Given the description of an element on the screen output the (x, y) to click on. 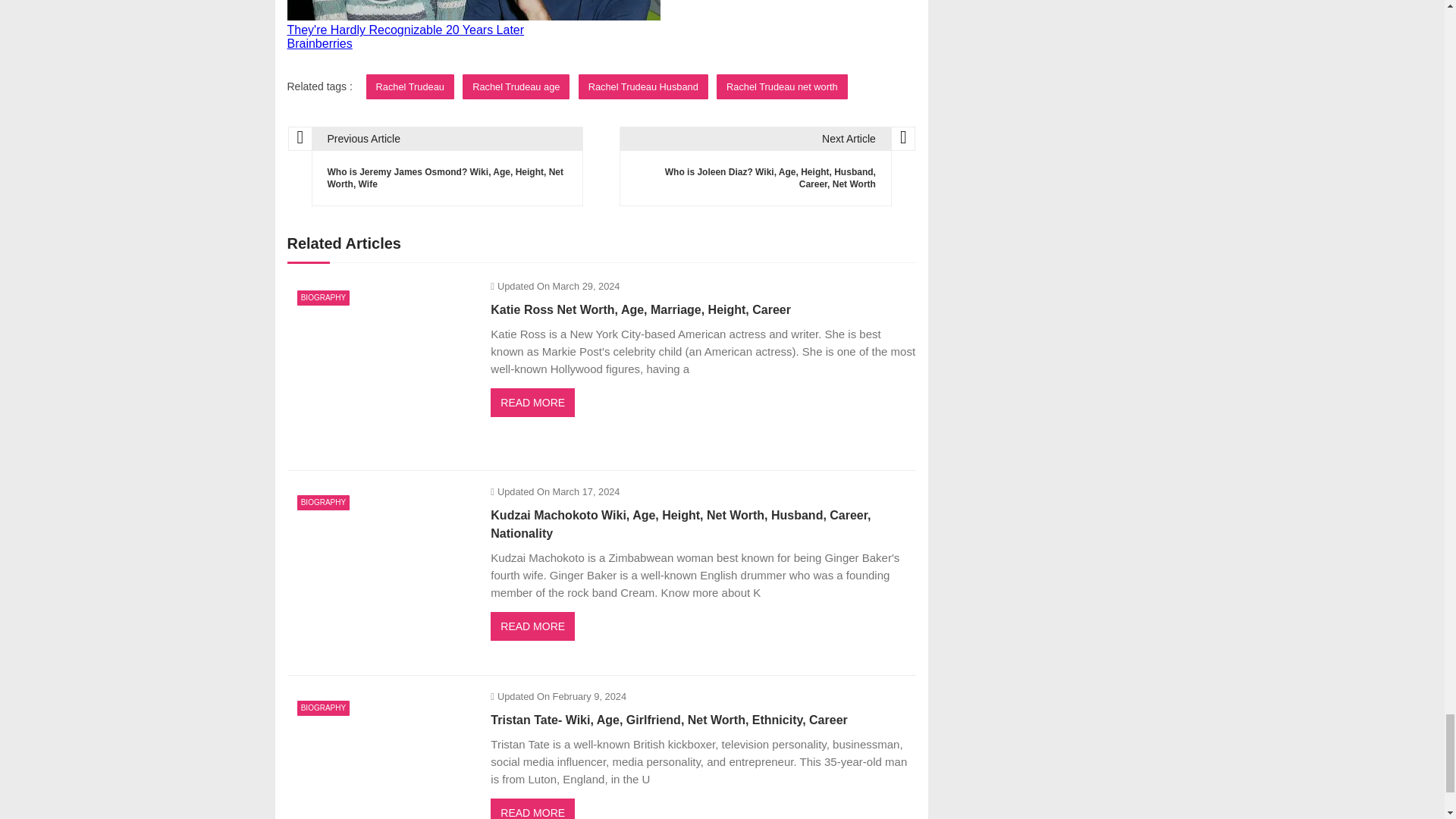
Rachel Trudeau Husband (642, 86)
Rachel Trudeau (410, 86)
Rachel Trudeau age (516, 86)
Katie Ross Net Worth, Age, Marriage, Height, Career (381, 367)
Rachel Trudeau net worth (781, 86)
